Given the description of an element on the screen output the (x, y) to click on. 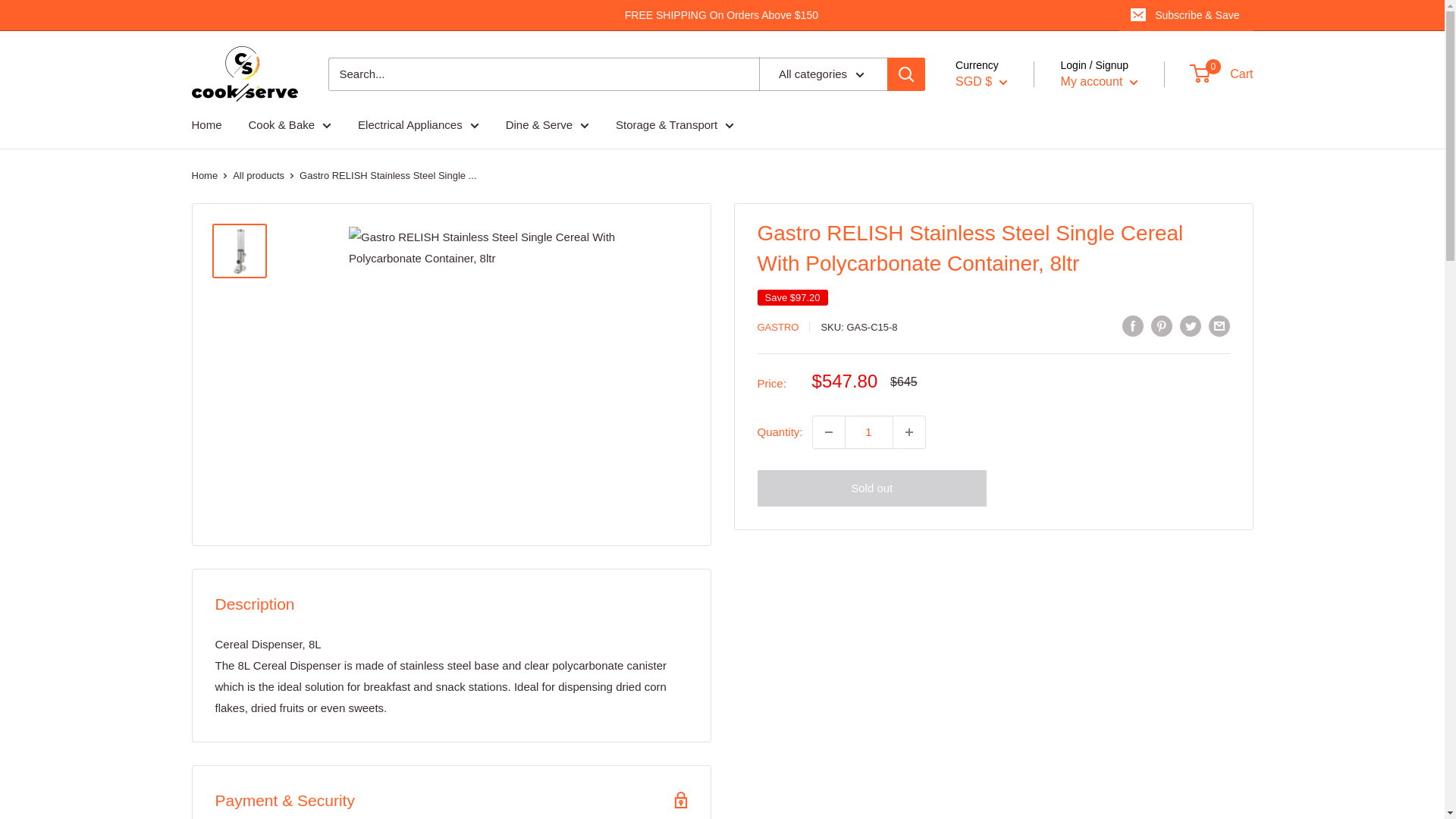
1 (868, 431)
Decrease quantity by 1 (828, 431)
Increase quantity by 1 (908, 431)
